Given the description of an element on the screen output the (x, y) to click on. 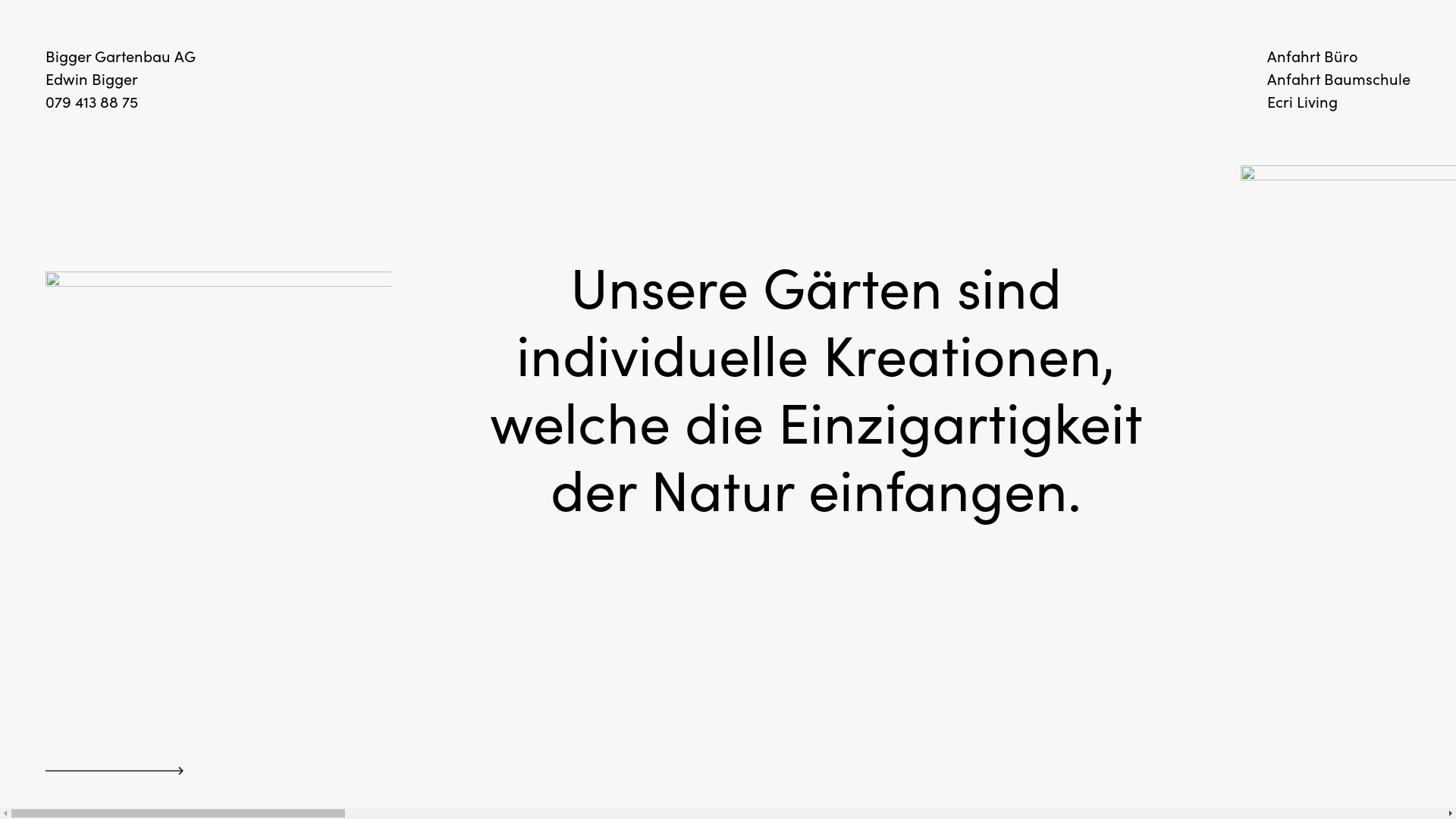
Anfahrt Baumschule Element type: text (1338, 78)
079 413 88 75 Element type: text (91, 101)
Ecri Living Element type: text (1302, 101)
